Given the description of an element on the screen output the (x, y) to click on. 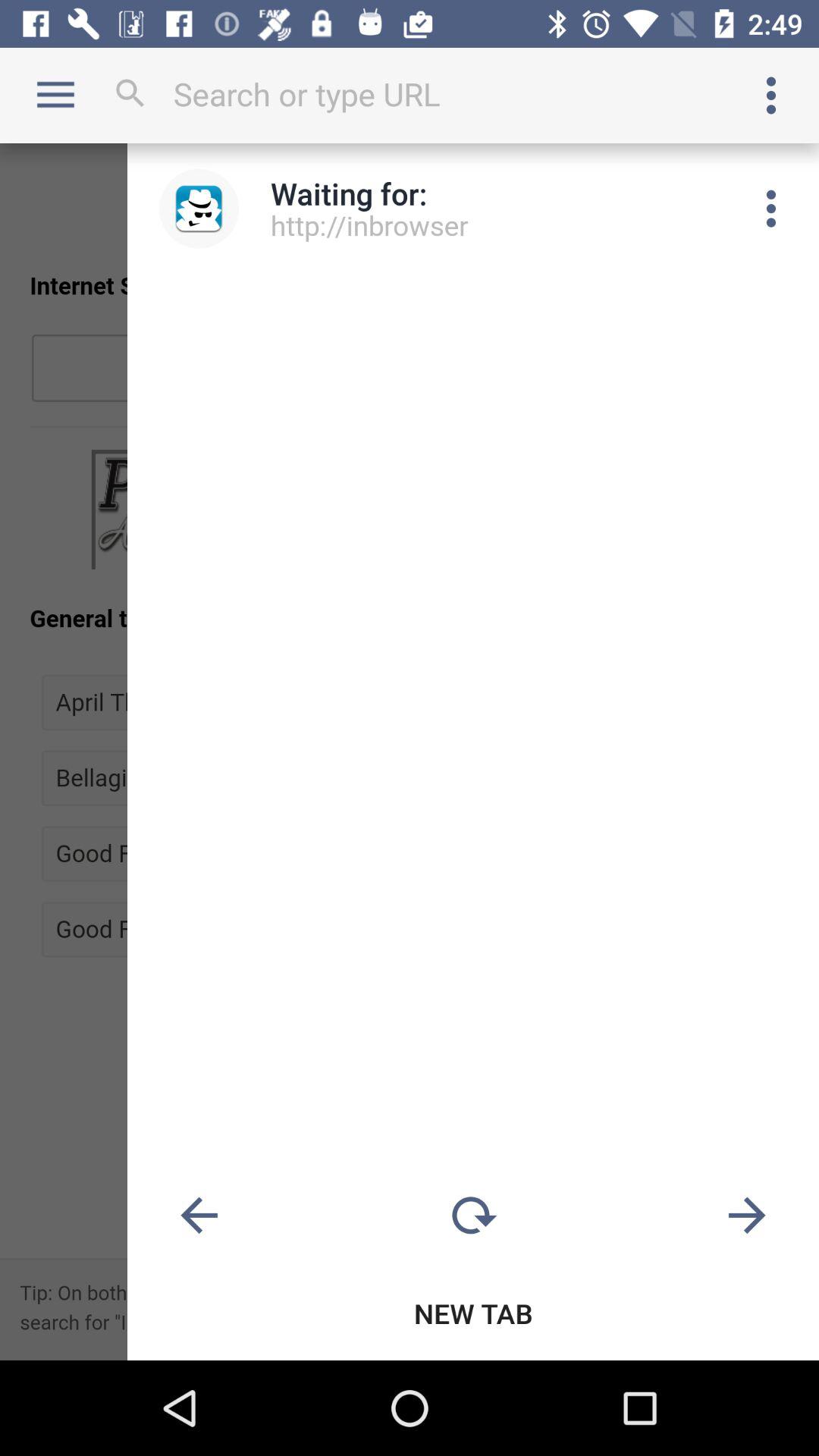
go back (198, 1216)
